Given the description of an element on the screen output the (x, y) to click on. 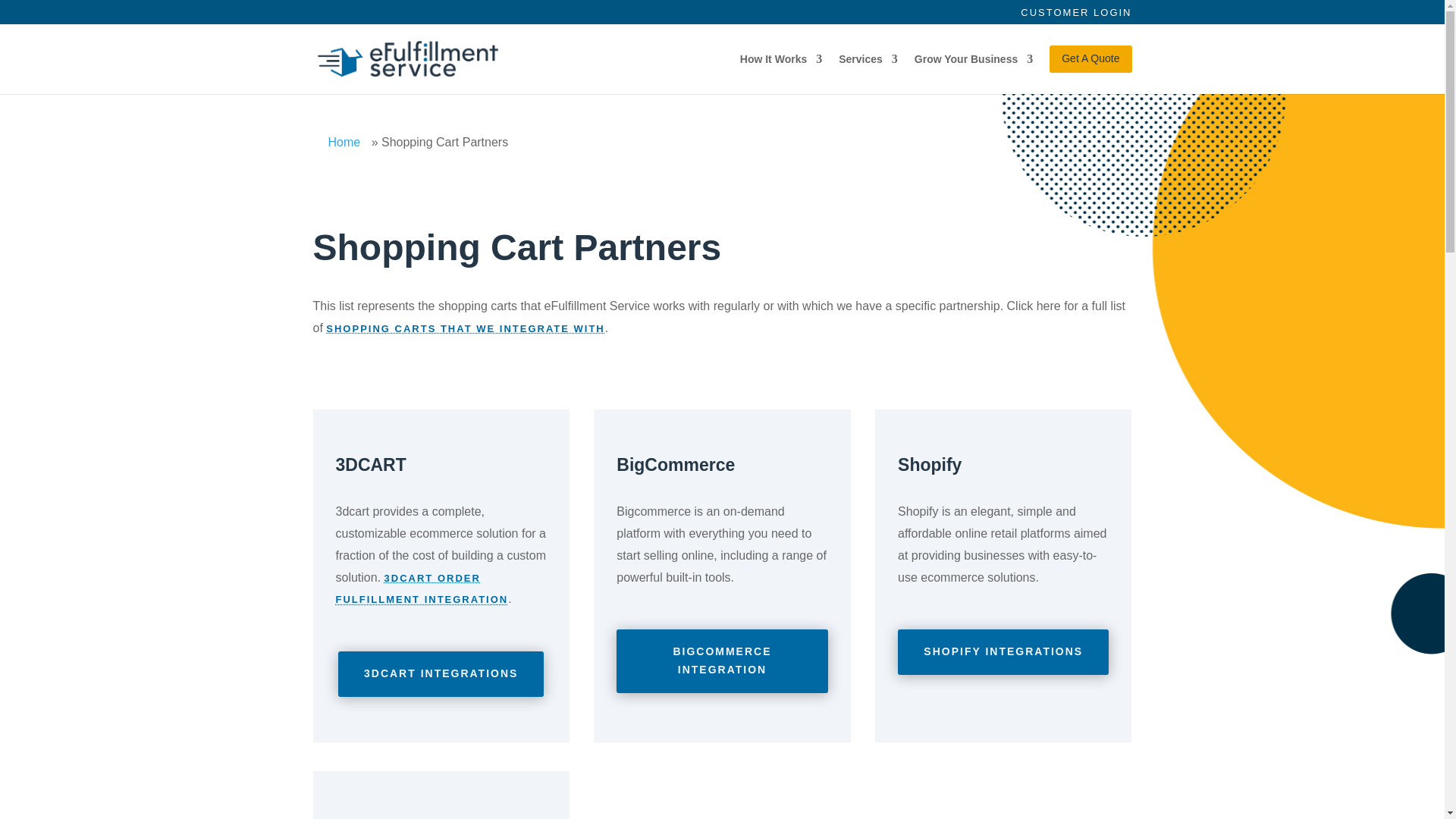
Services (868, 59)
CUSTOMER LOGIN (1075, 12)
Get A Quote (1090, 58)
How It Works (780, 59)
Grow Your Business (973, 59)
